Given the description of an element on the screen output the (x, y) to click on. 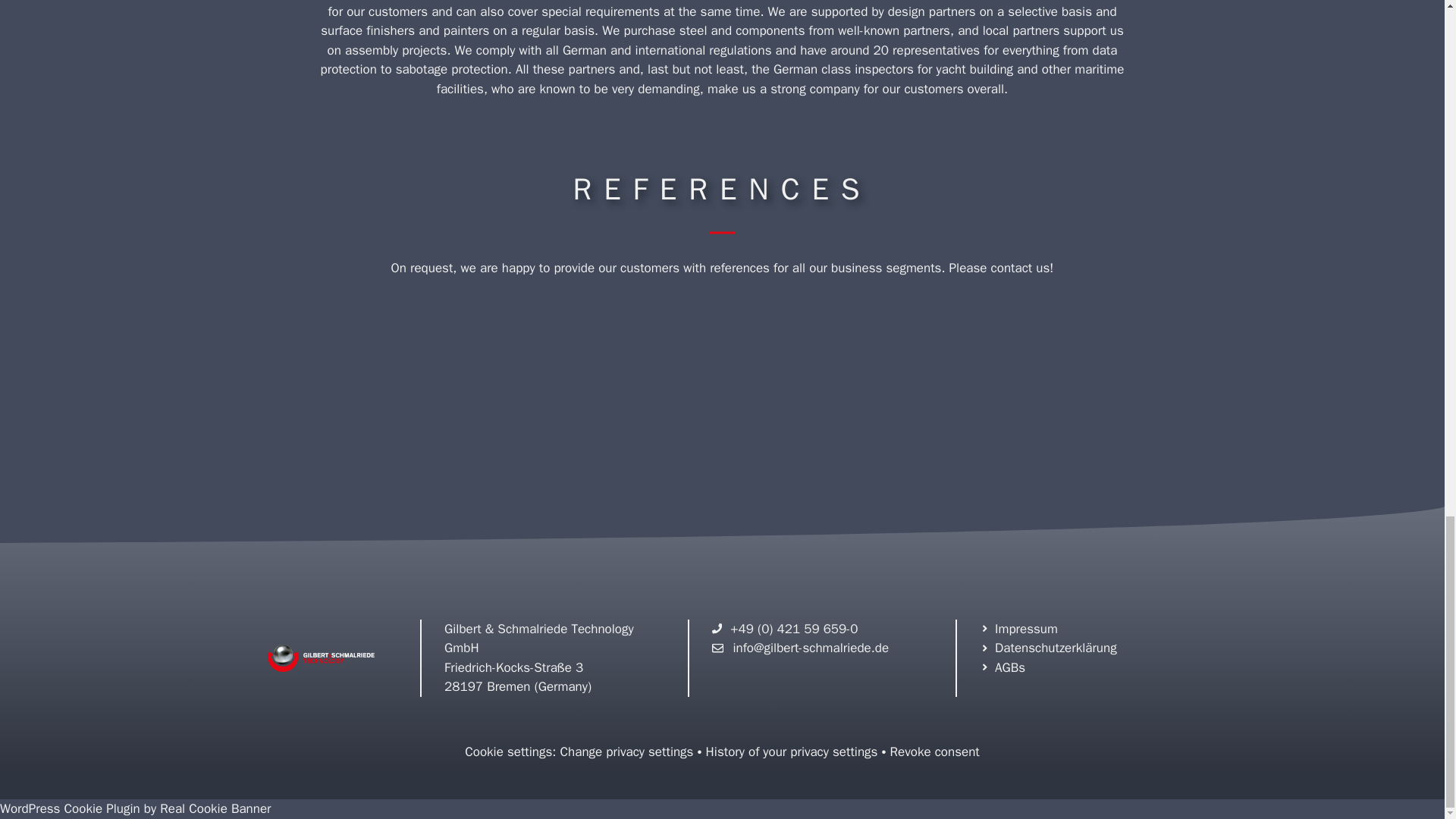
AGBs (1002, 667)
Revoke consent (934, 751)
History of your privacy settings (791, 751)
Impressum (1018, 629)
Change privacy settings (627, 751)
WordPress Cookie Plugin by Real Cookie Banner (135, 808)
